Given the description of an element on the screen output the (x, y) to click on. 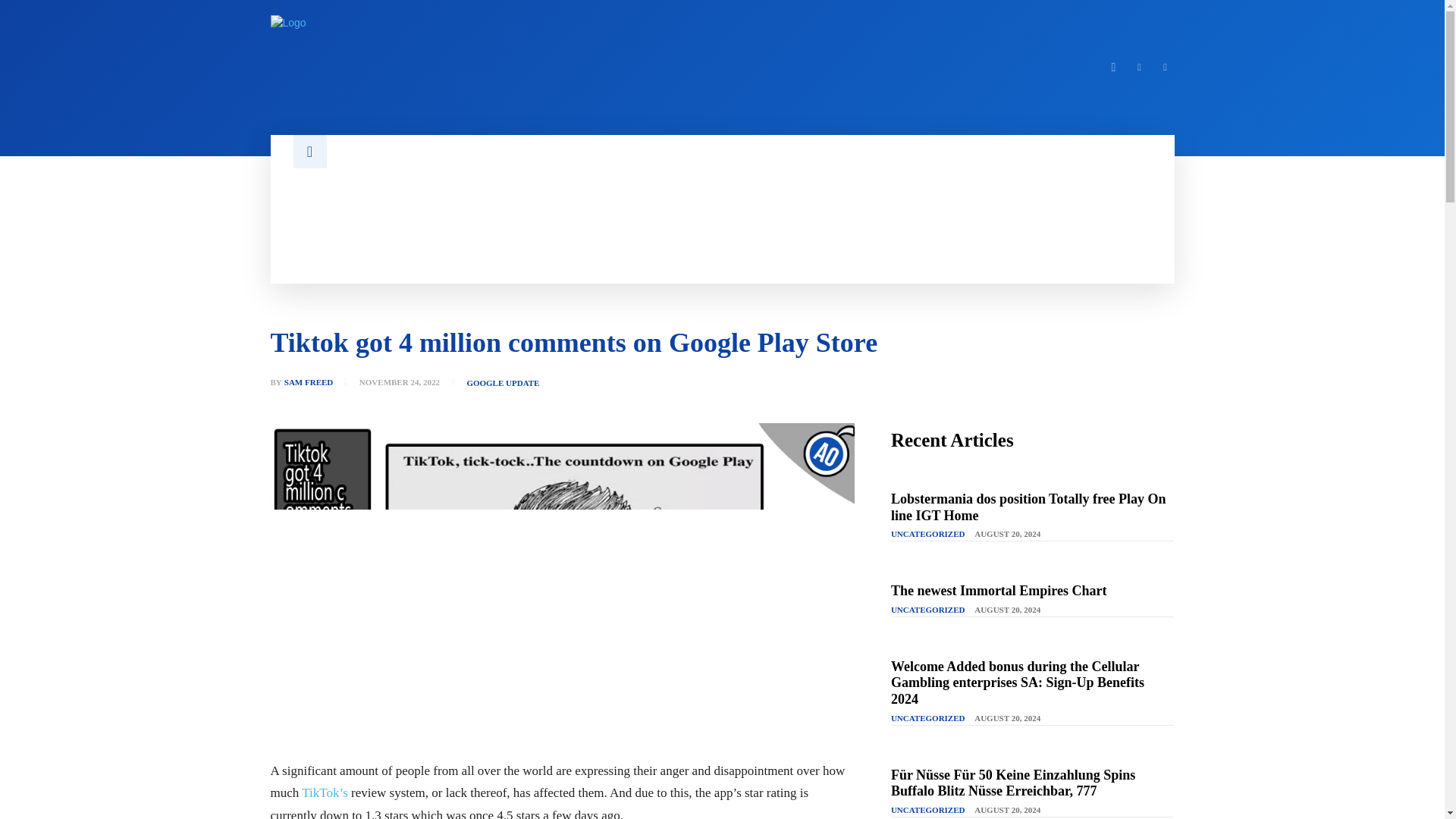
Pinterest (1138, 67)
Twitter (1164, 67)
Lobstermania dos position Totally free Play On line IGT Home (1028, 507)
Facebook (1112, 67)
The newest Immortal Empires Chart (998, 590)
